Given the description of an element on the screen output the (x, y) to click on. 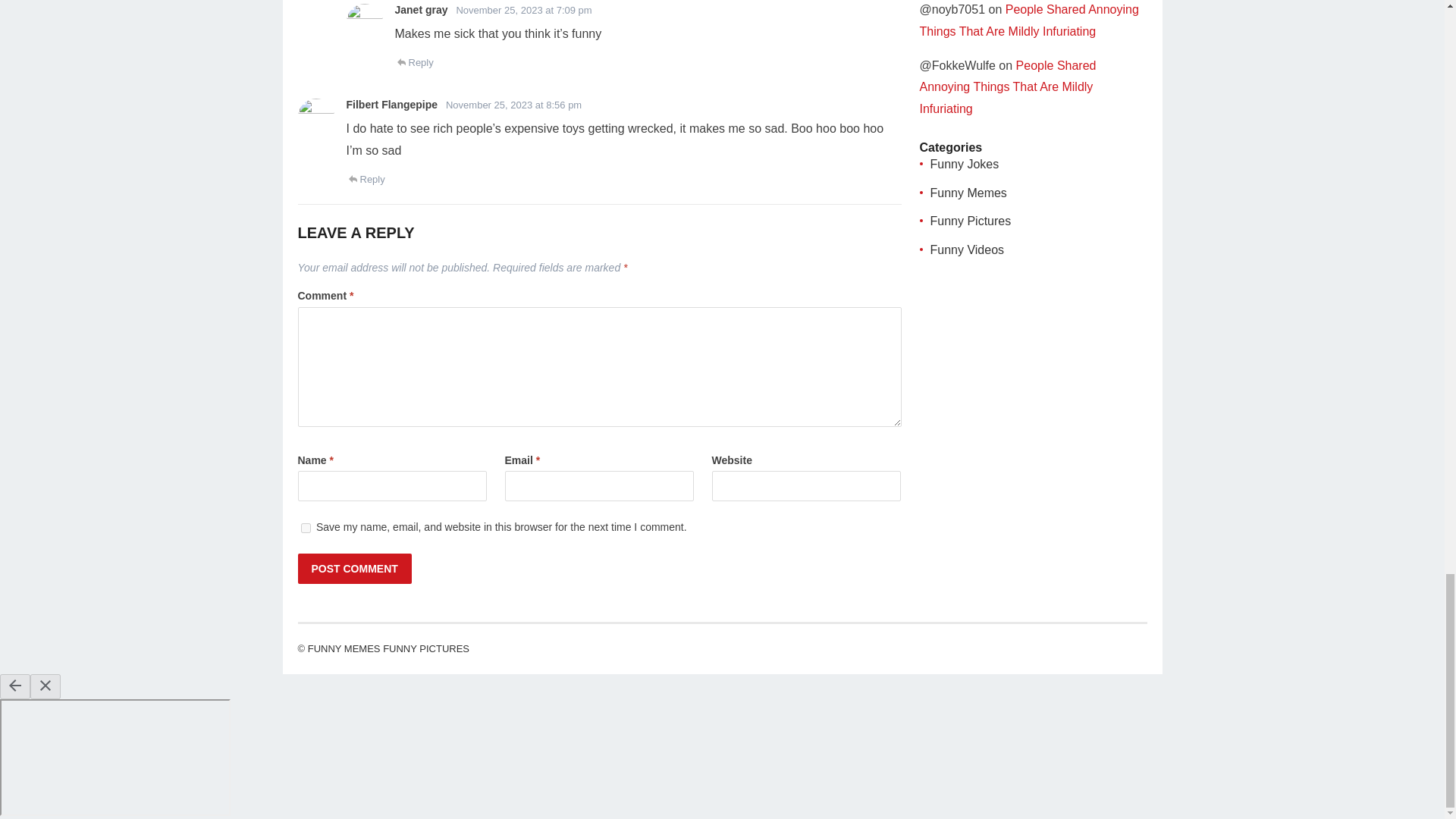
Post Comment (353, 568)
yes (304, 528)
